Given the description of an element on the screen output the (x, y) to click on. 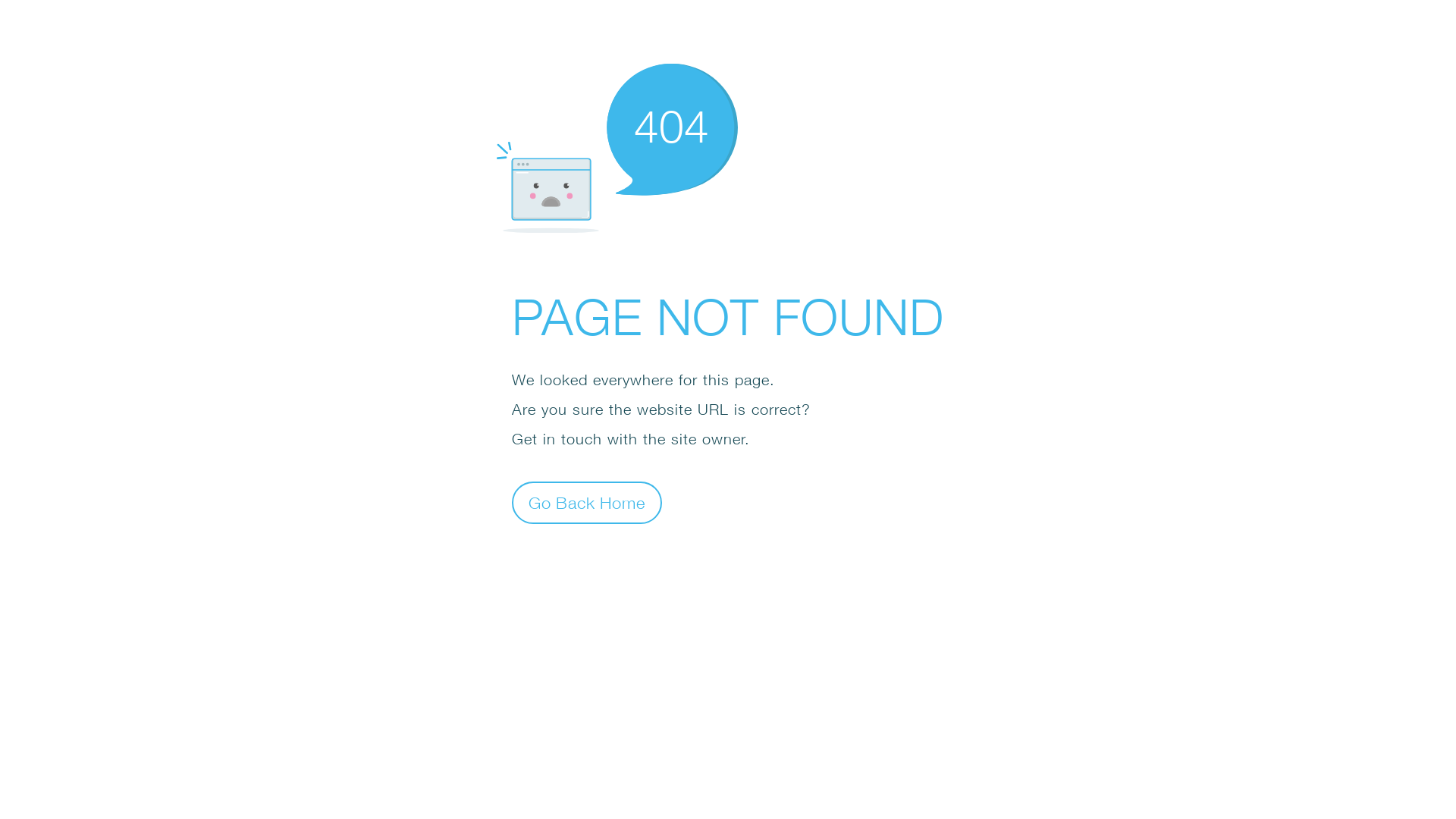
Go Back Home Element type: text (586, 502)
